Given the description of an element on the screen output the (x, y) to click on. 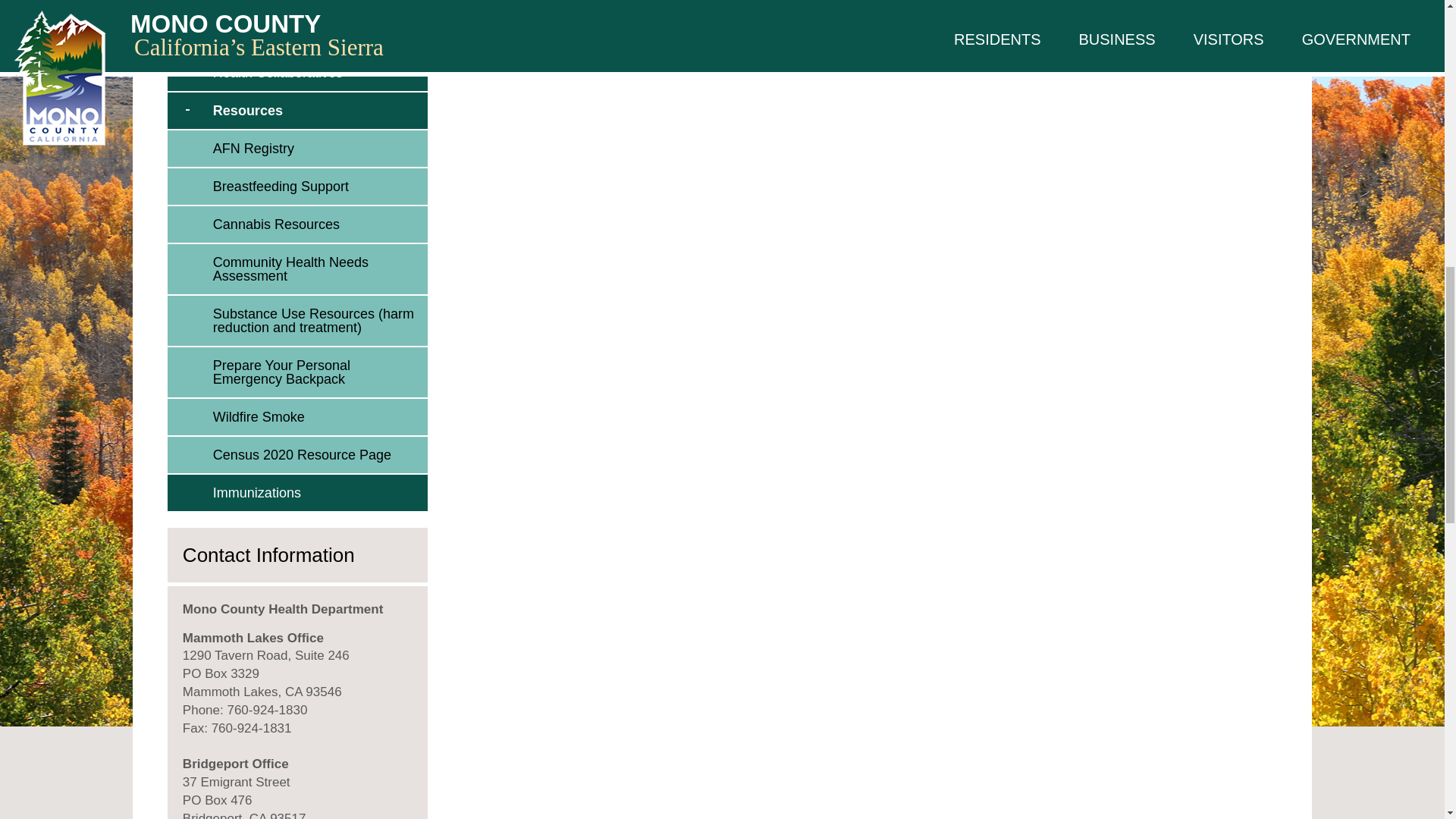
Prepare Your Personal Emergency Backpack (316, 372)
Cannabis Resources (316, 224)
Resource Page (316, 454)
Immunizations (316, 493)
